Given the description of an element on the screen output the (x, y) to click on. 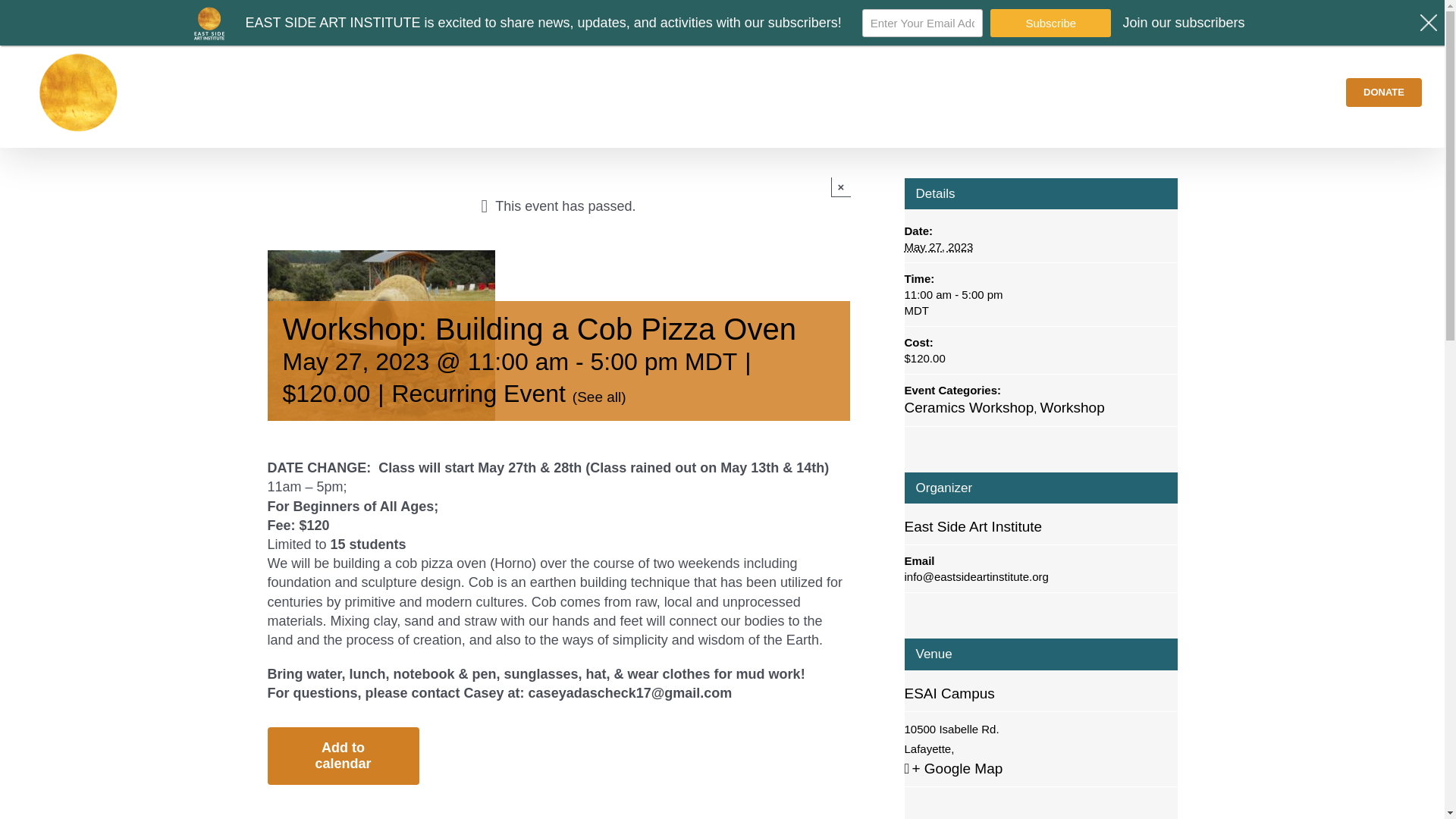
My Account (1232, 18)
Instagram (44, 18)
Facebook (25, 18)
Log In (1277, 179)
News (1031, 91)
2023-05-27 (938, 246)
2023-05-27 (1040, 302)
Classes (904, 91)
Google maps iframe displaying the address to ESAI Campus (1040, 808)
Featured Artists (1118, 91)
East Side Art Institute (973, 526)
Store (1204, 91)
Events (970, 91)
CART (1352, 18)
Get Involved (1282, 91)
